Given the description of an element on the screen output the (x, y) to click on. 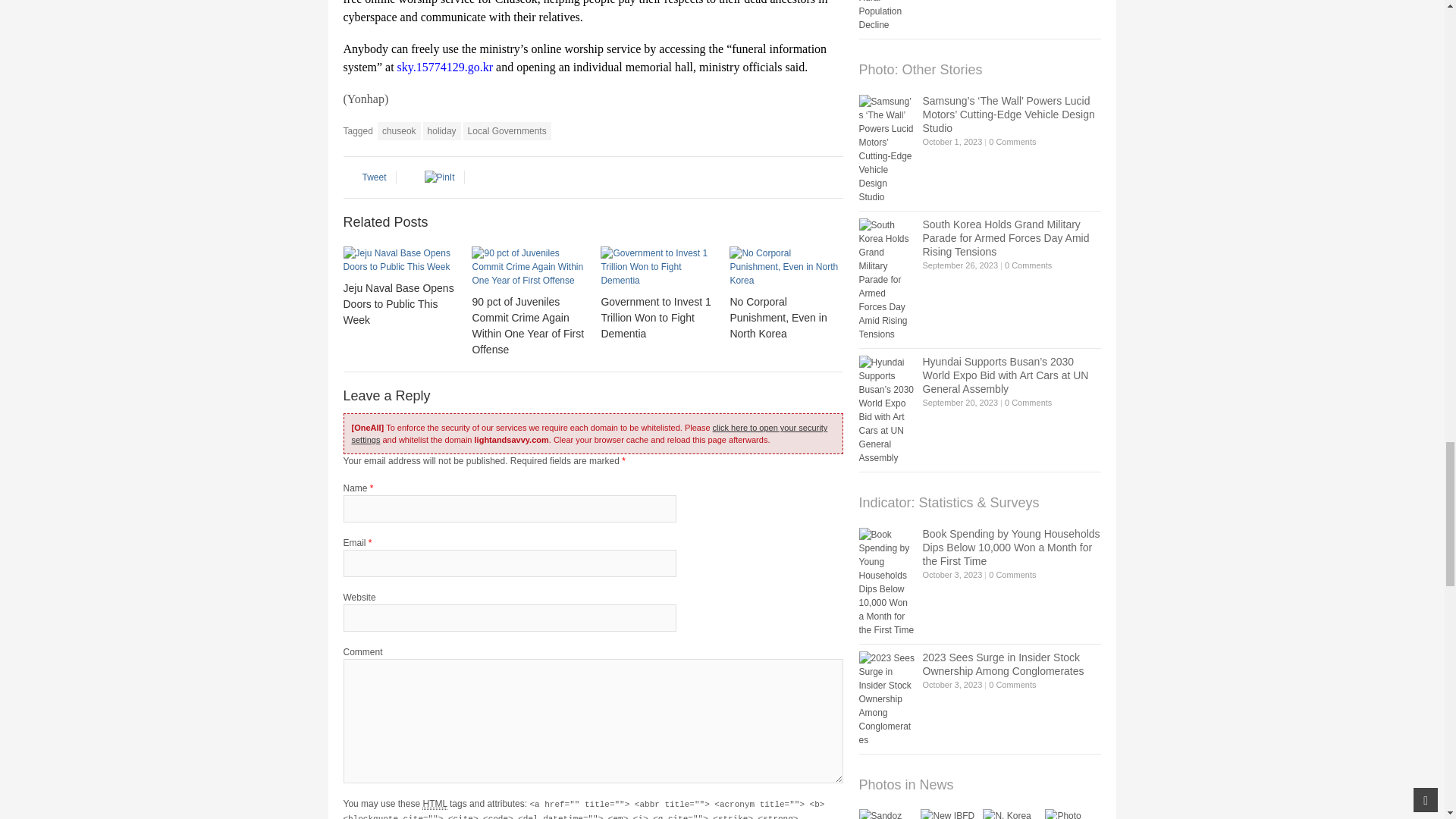
Government to Invest 1 Trillion Won to Fight Dementia (656, 266)
Jeju Naval Base Opens Doors to Public This Week (397, 303)
Jeju Naval Base Opens Doors to Public This Week (399, 259)
